Given the description of an element on the screen output the (x, y) to click on. 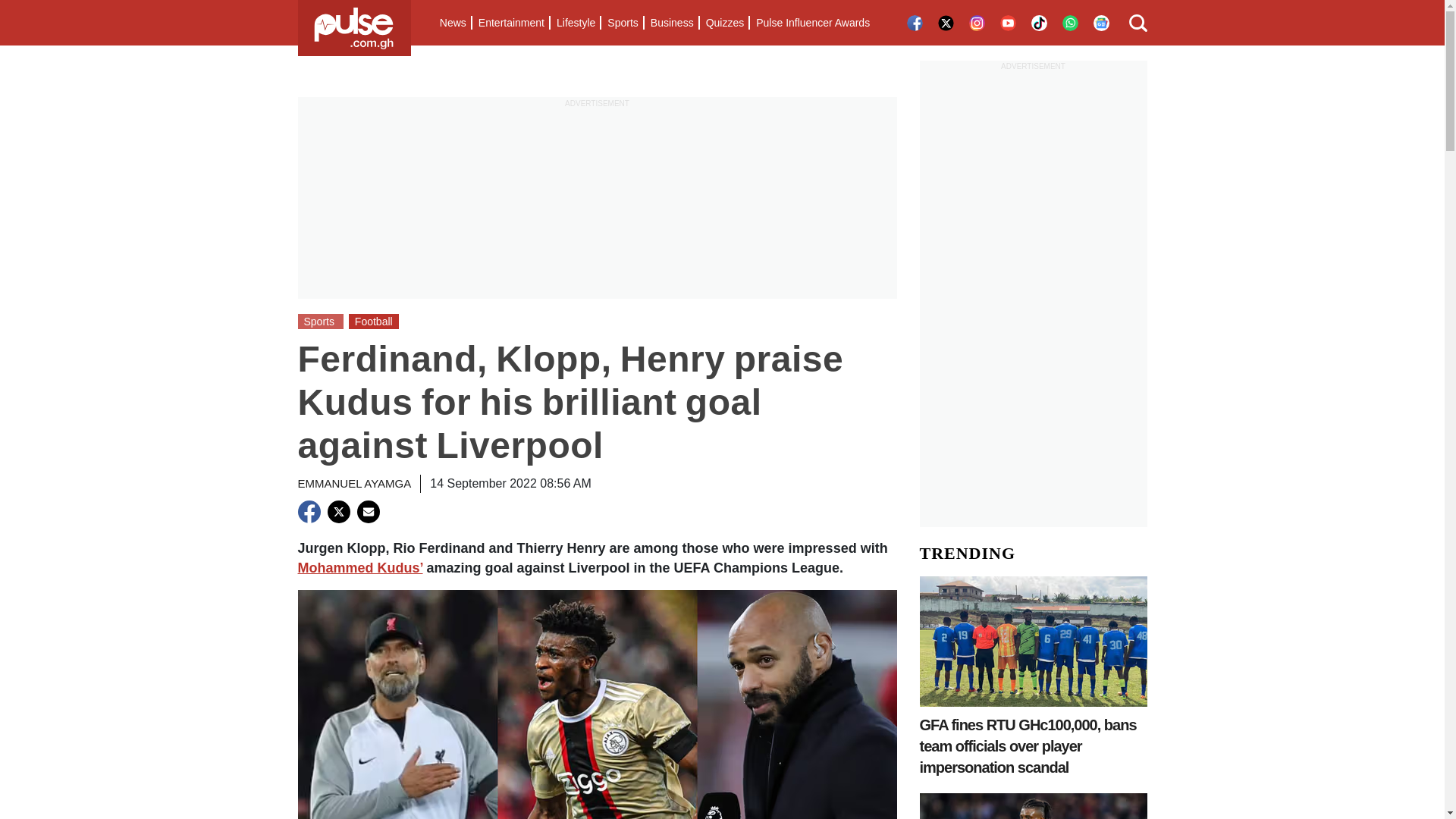
Lifestyle (575, 22)
Entertainment (510, 22)
Sports (622, 22)
Business (672, 22)
